Given the description of an element on the screen output the (x, y) to click on. 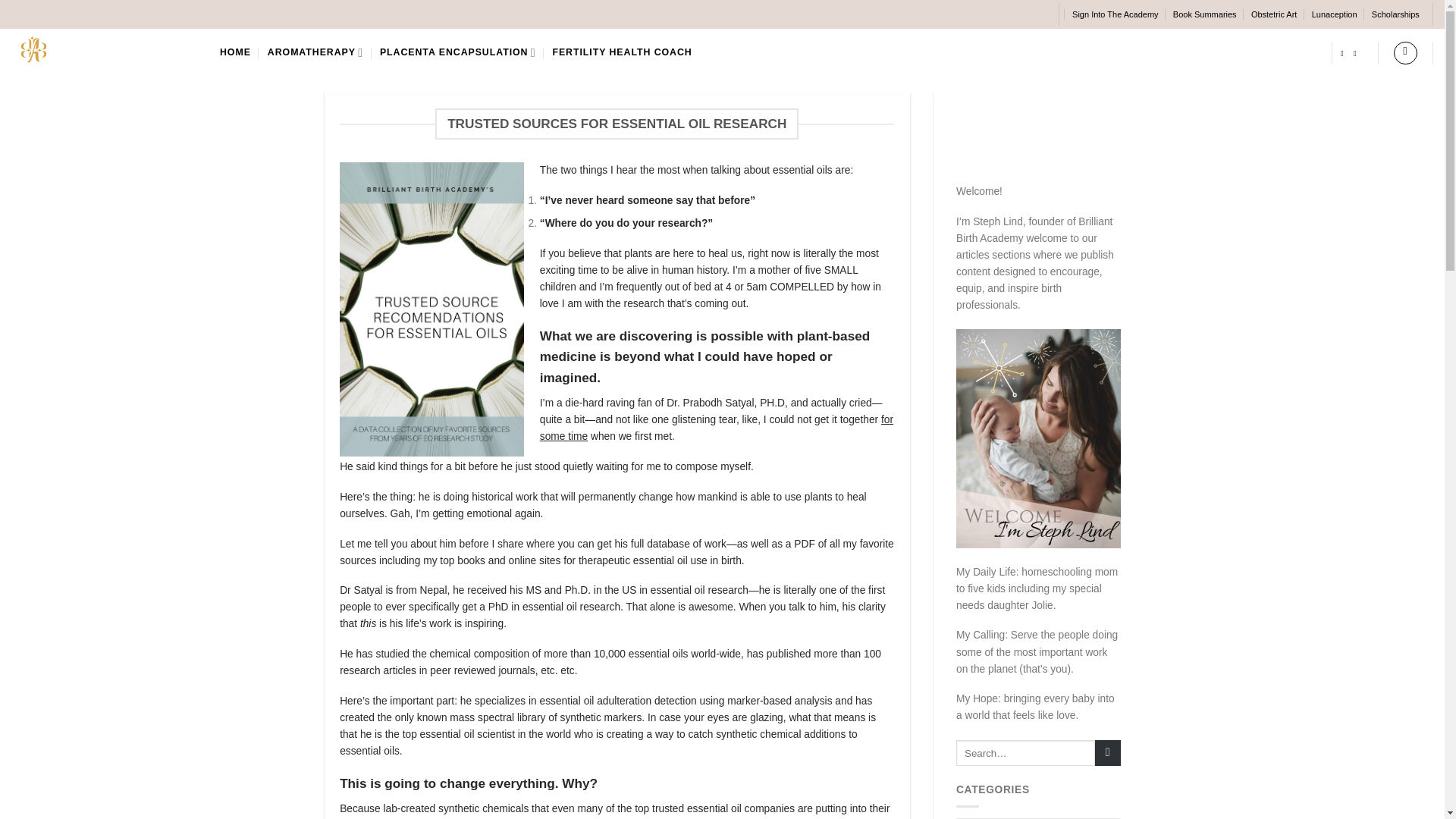
Follow on Instagram (1357, 52)
PLACENTA ENCAPSULATION (457, 52)
Follow on Facebook (1344, 52)
Obstetric Art (1273, 14)
FERTILITY HEALTH COACH (621, 52)
Lunaception (1333, 14)
Book Summaries (1204, 14)
AROMATHERAPY (314, 52)
HOME (234, 52)
Brilliant Birth Academy - Certify Your Calling (103, 48)
